Given the description of an element on the screen output the (x, y) to click on. 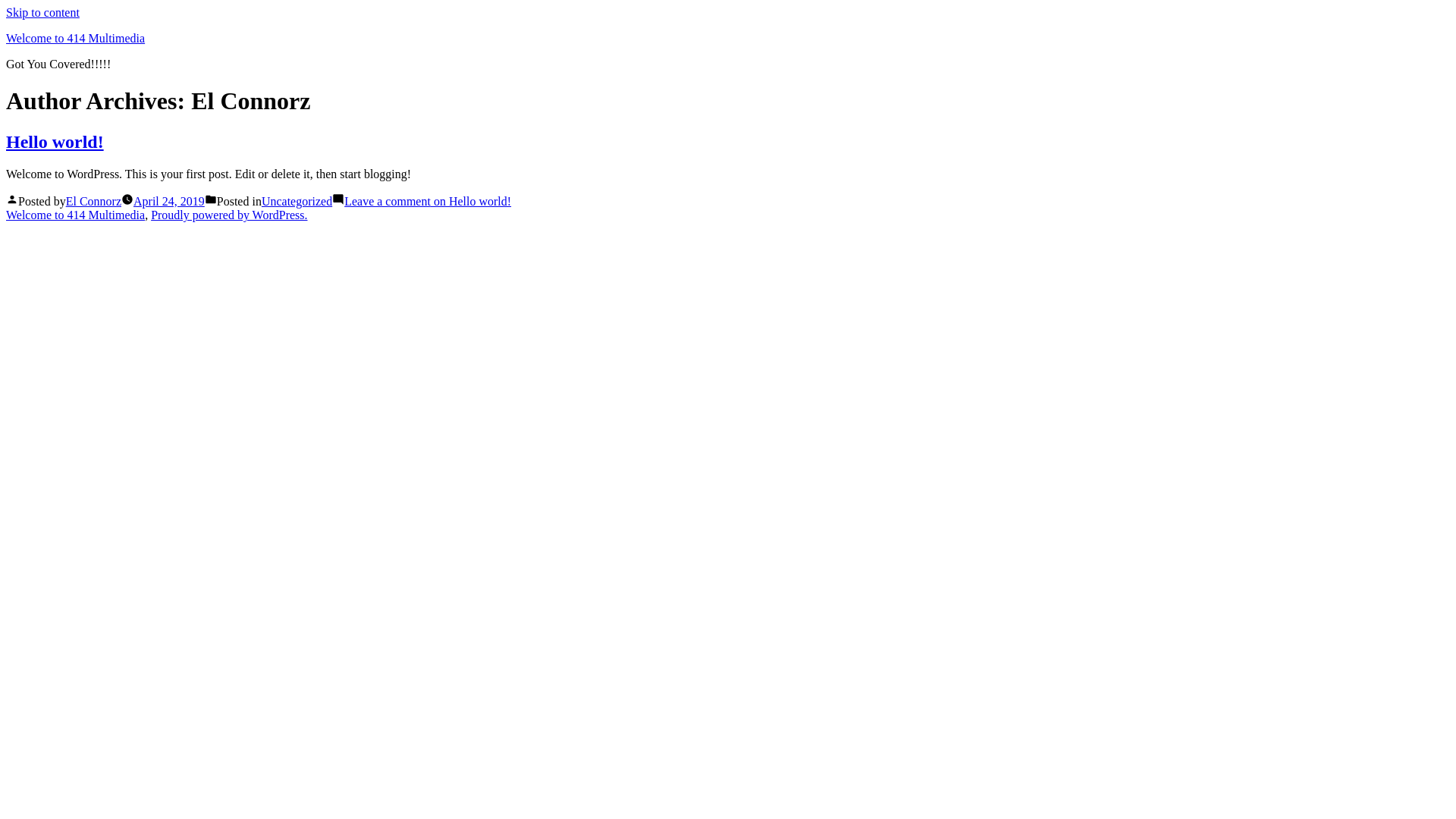
April 24, 2019 Element type: text (168, 200)
Skip to content Element type: text (42, 12)
Proudly powered by WordPress. Element type: text (228, 214)
Uncategorized Element type: text (296, 200)
Welcome to 414 Multimedia Element type: text (75, 214)
Welcome to 414 Multimedia Element type: text (75, 37)
El Connorz Element type: text (93, 200)
Hello world! Element type: text (54, 141)
Leave a comment on Hello world! Element type: text (427, 200)
